Given the description of an element on the screen output the (x, y) to click on. 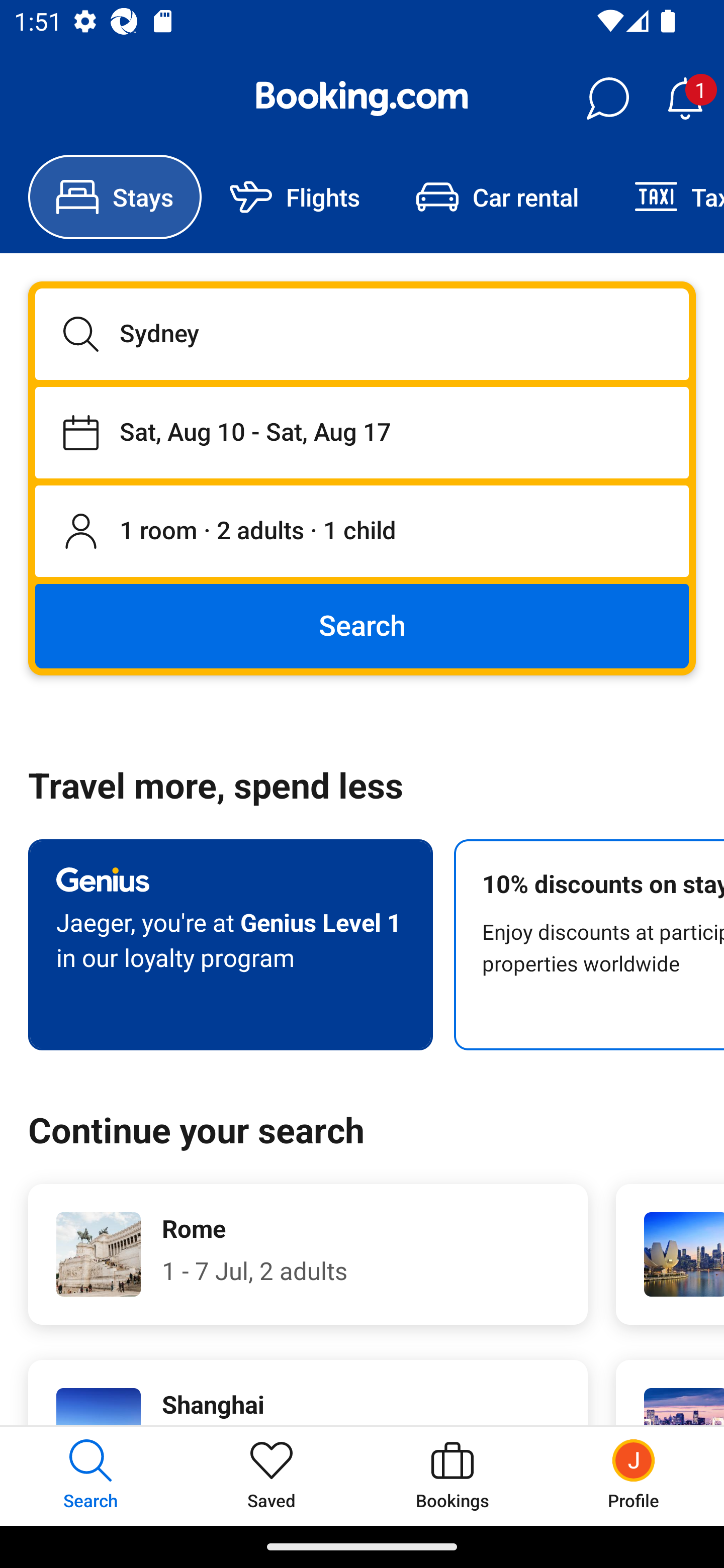
Messages (607, 98)
Notifications (685, 98)
Stays (114, 197)
Flights (294, 197)
Car rental (497, 197)
Taxi (665, 197)
Sydney (361, 333)
Staying from Sat, Aug 10 until Sat, Aug 17 (361, 432)
1 room, 2 adults, 1 child (361, 531)
Search (361, 625)
Rome 1 - 7 Jul, 2 adults (307, 1253)
Saved (271, 1475)
Bookings (452, 1475)
Profile (633, 1475)
